Given the description of an element on the screen output the (x, y) to click on. 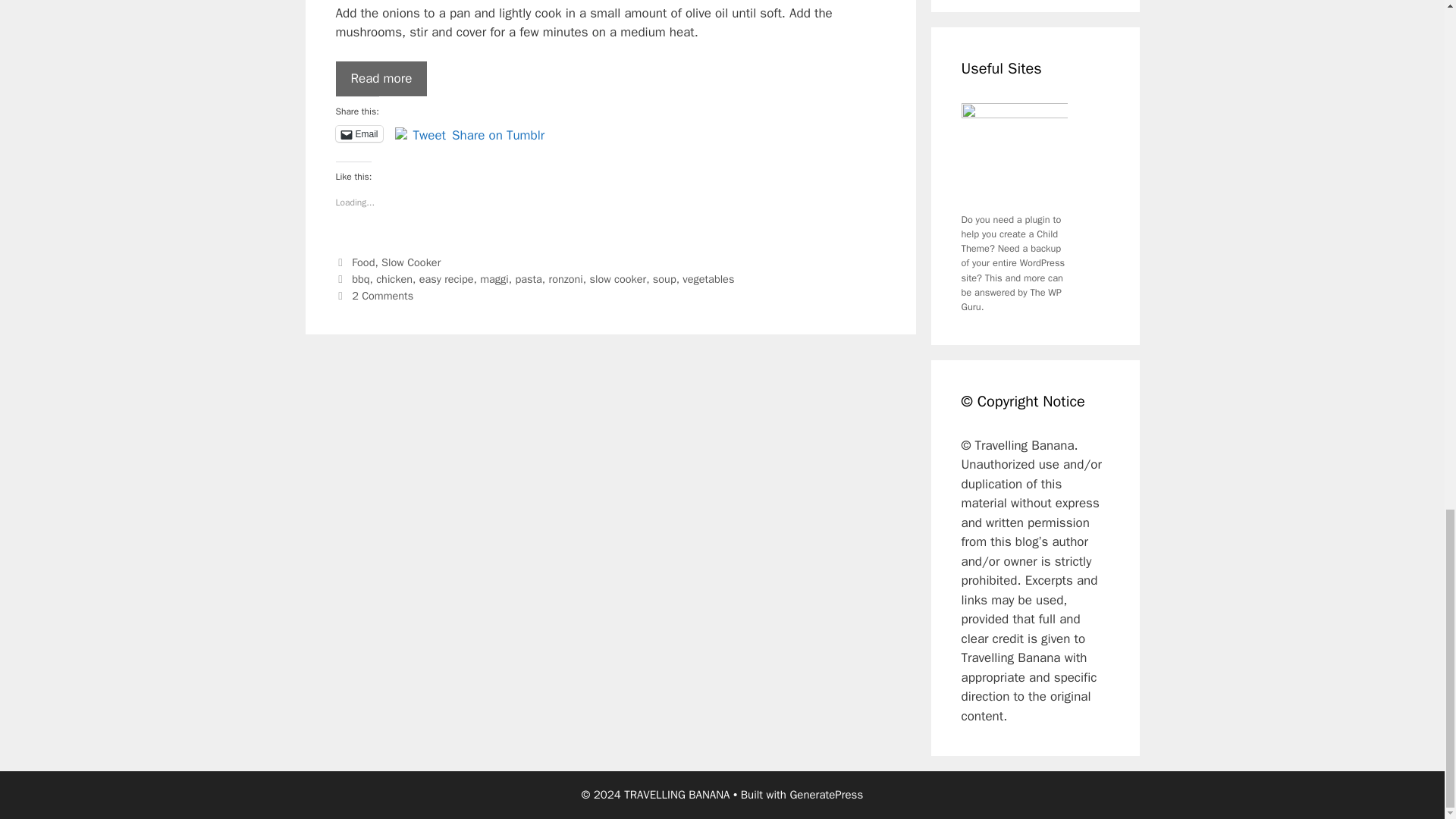
Slow Cooker (411, 262)
vegetables (707, 278)
bbq (360, 278)
maggi (494, 278)
Click to email a link to a friend (357, 133)
easy recipe (446, 278)
slow cooker (617, 278)
Read more (380, 78)
pasta (528, 278)
Food (363, 262)
